Given the description of an element on the screen output the (x, y) to click on. 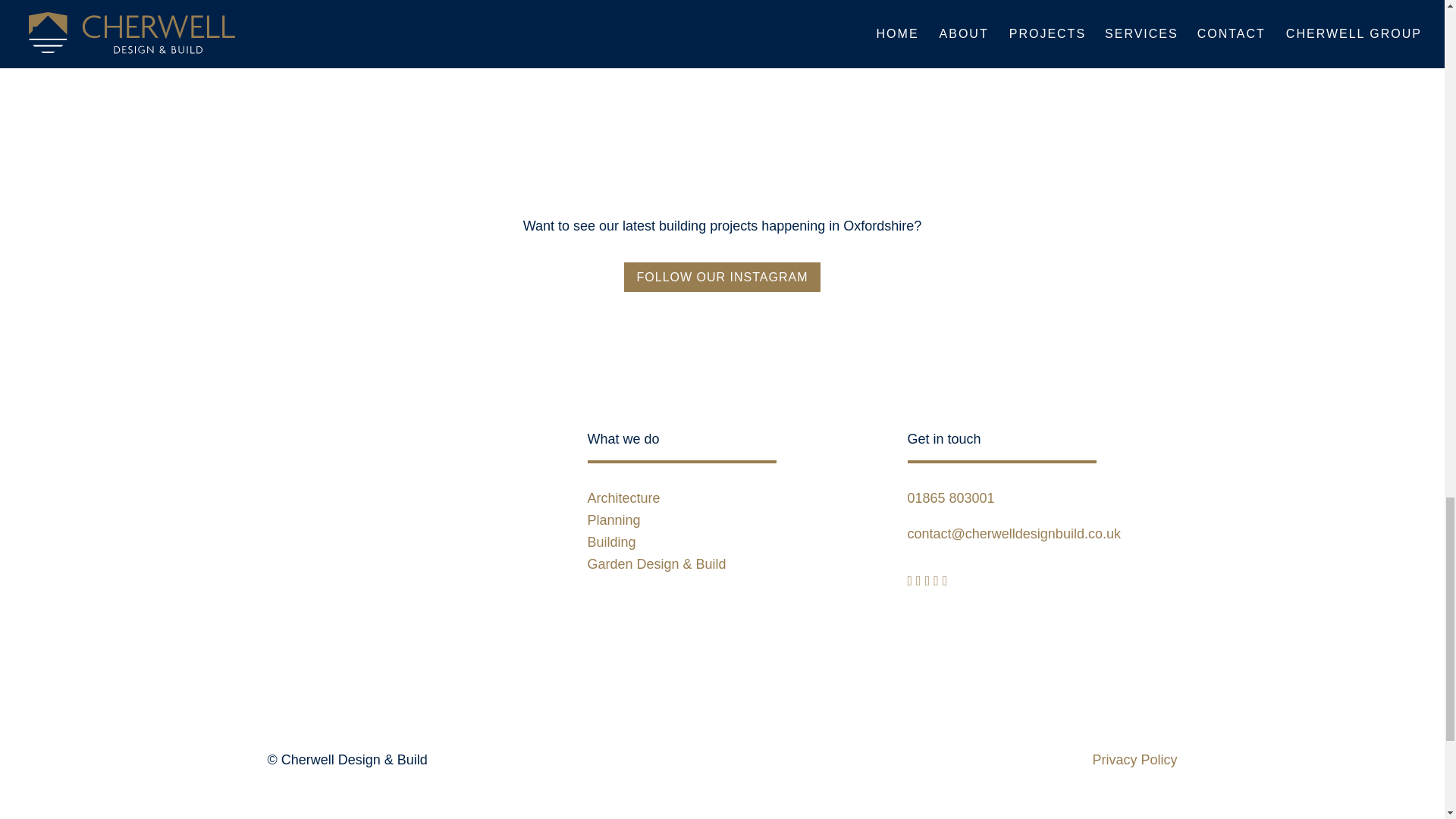
FOLLOW OUR INSTAGRAM (722, 276)
Cherwell-Logo-Light (380, 485)
01865 803001 (950, 498)
Building (610, 541)
Privacy Policy (1134, 759)
logo-small (380, 635)
Planning (613, 519)
Architecture (622, 498)
